Given the description of an element on the screen output the (x, y) to click on. 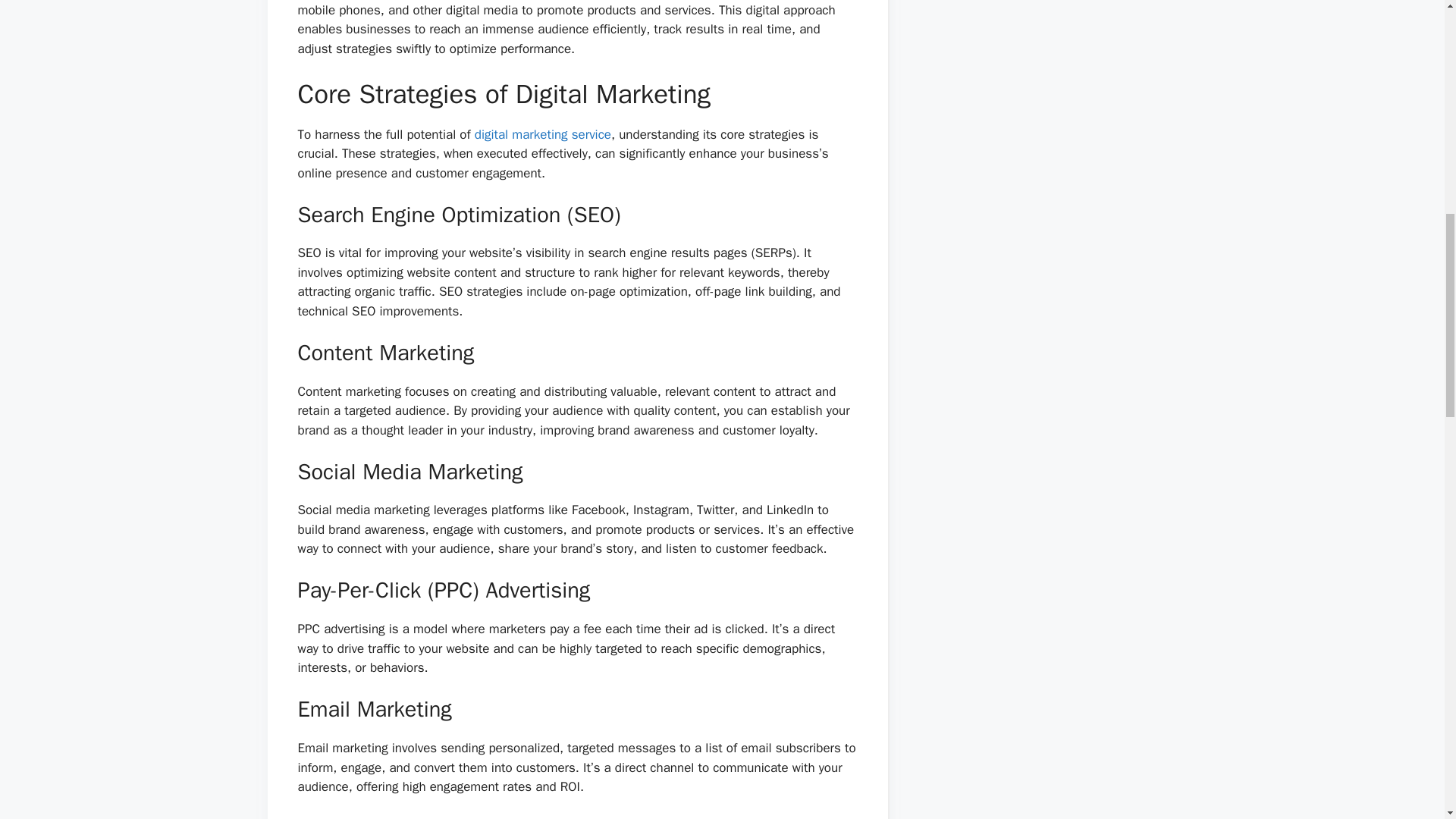
digital marketing service (542, 134)
